Given the description of an element on the screen output the (x, y) to click on. 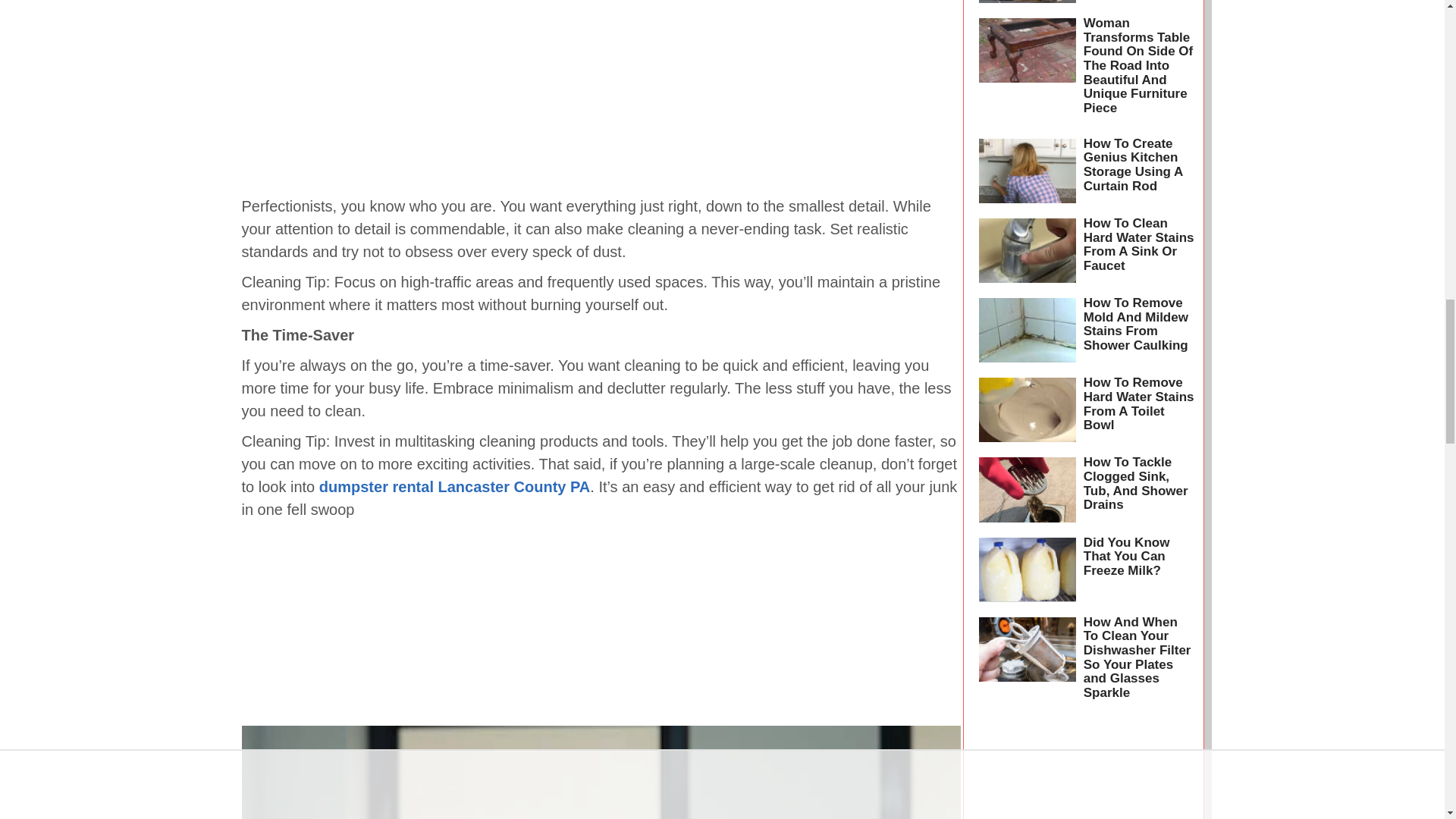
Read more (1027, 170)
How To Tackle Clogged Sink, Tub, And Shower Drains (1135, 483)
How To Clean Hard Water Stains From A Sink Or Faucet (1138, 244)
Read more (1027, 330)
Did You Know That You Can Freeze Milk? (1126, 556)
Read more (1027, 70)
Read more (1027, 5)
How To Remove Hard Water Stains From A Toilet Bowl (1138, 403)
How To Remove Mold And Mildew Stains From Shower Caulking (1135, 323)
Read more (1027, 250)
dumpster rental Lancaster County PA (453, 486)
